Given the description of an element on the screen output the (x, y) to click on. 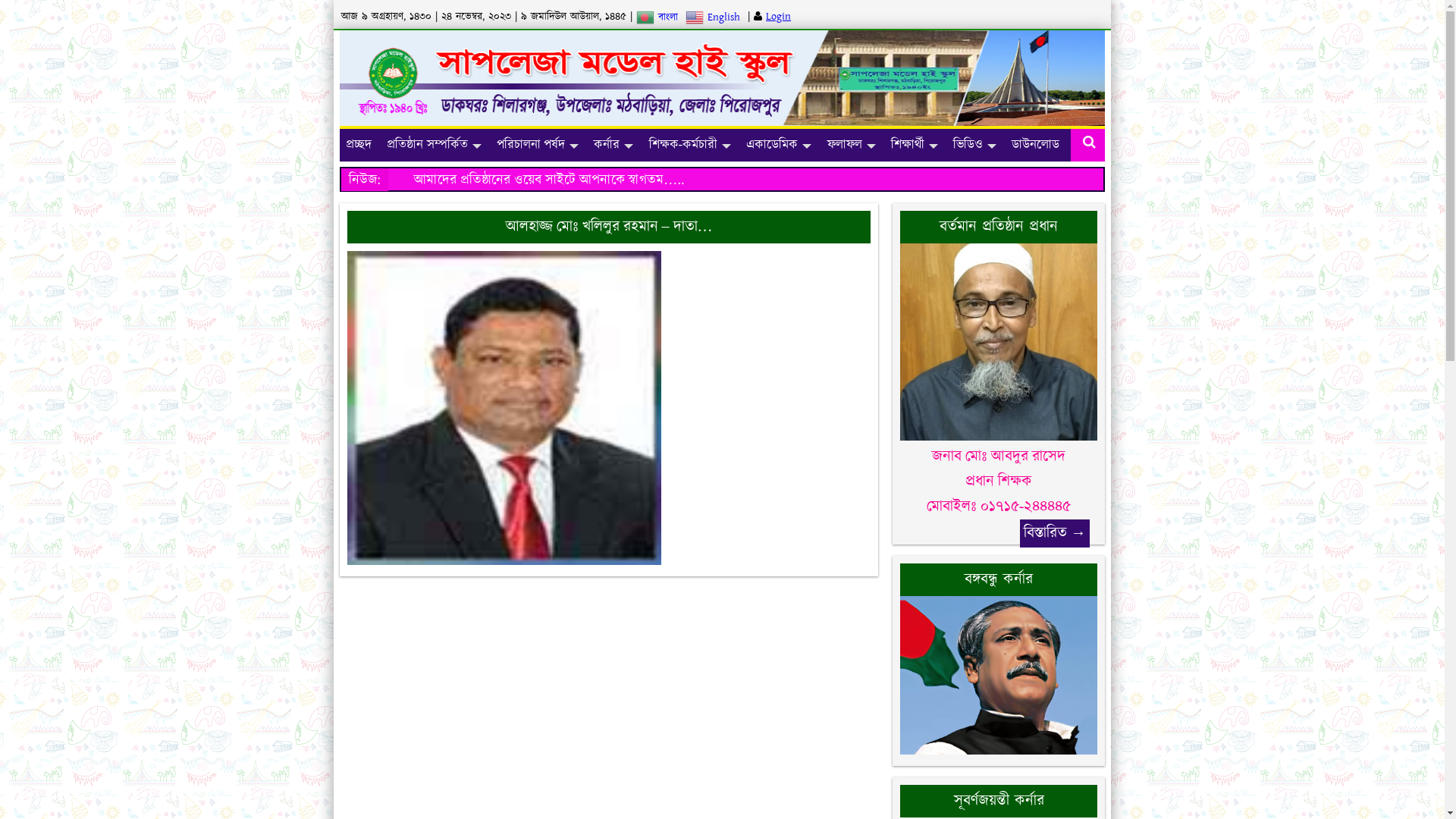
English Element type: text (714, 16)
Login Element type: text (777, 16)
